Given the description of an element on the screen output the (x, y) to click on. 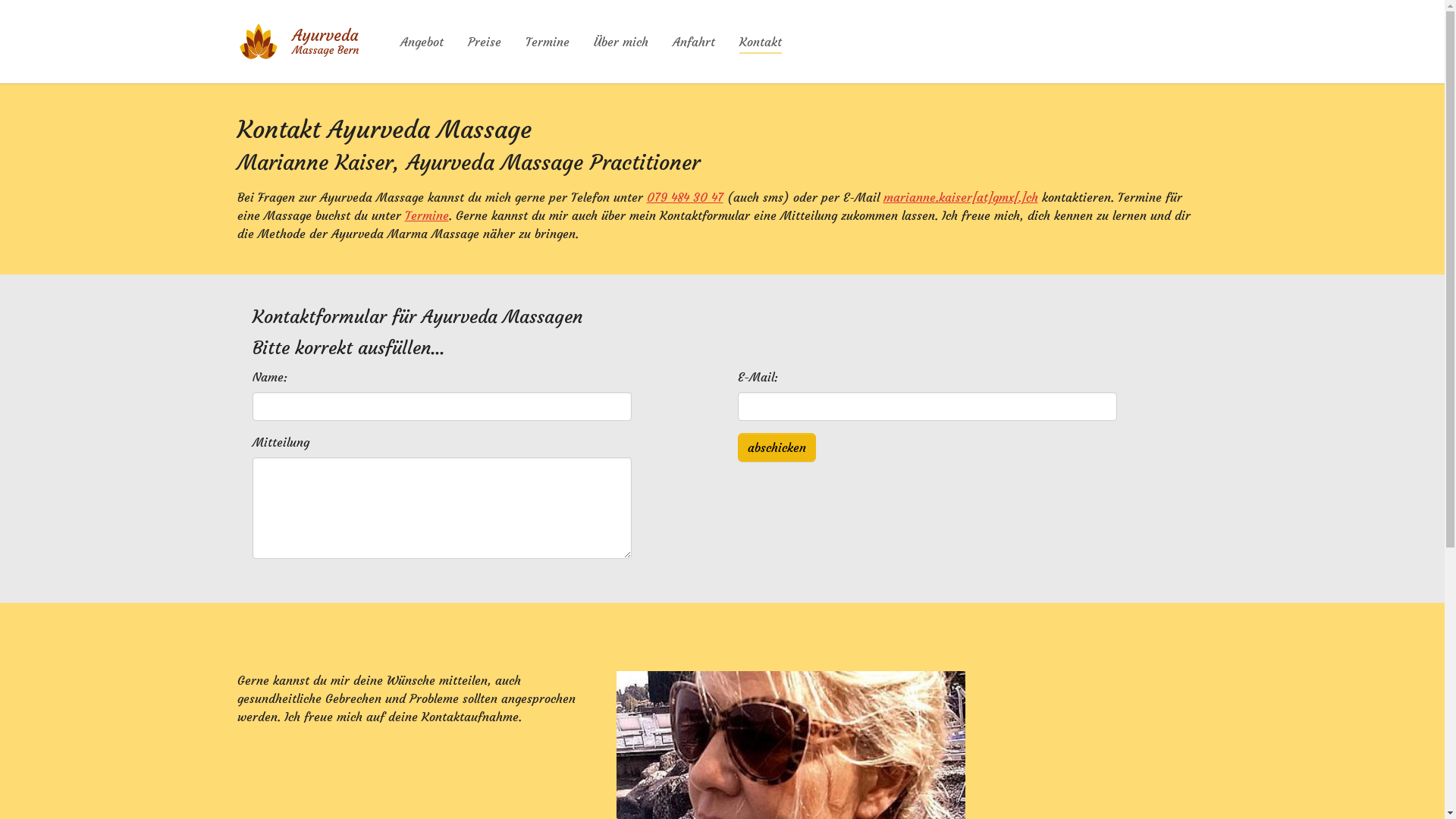
079 484 30 47 Element type: text (684, 196)
marianne.kaiser[at]gmx[.]ch Element type: text (959, 196)
Termine Element type: text (547, 41)
Angebot Element type: text (421, 41)
Termine Element type: text (426, 214)
Kontakt
((current)) Element type: text (760, 41)
Anfahrt Element type: text (693, 41)
Ayurveda Massage Bern Element type: hover (303, 41)
Preise Element type: text (484, 41)
abschicken Element type: text (776, 447)
